Given the description of an element on the screen output the (x, y) to click on. 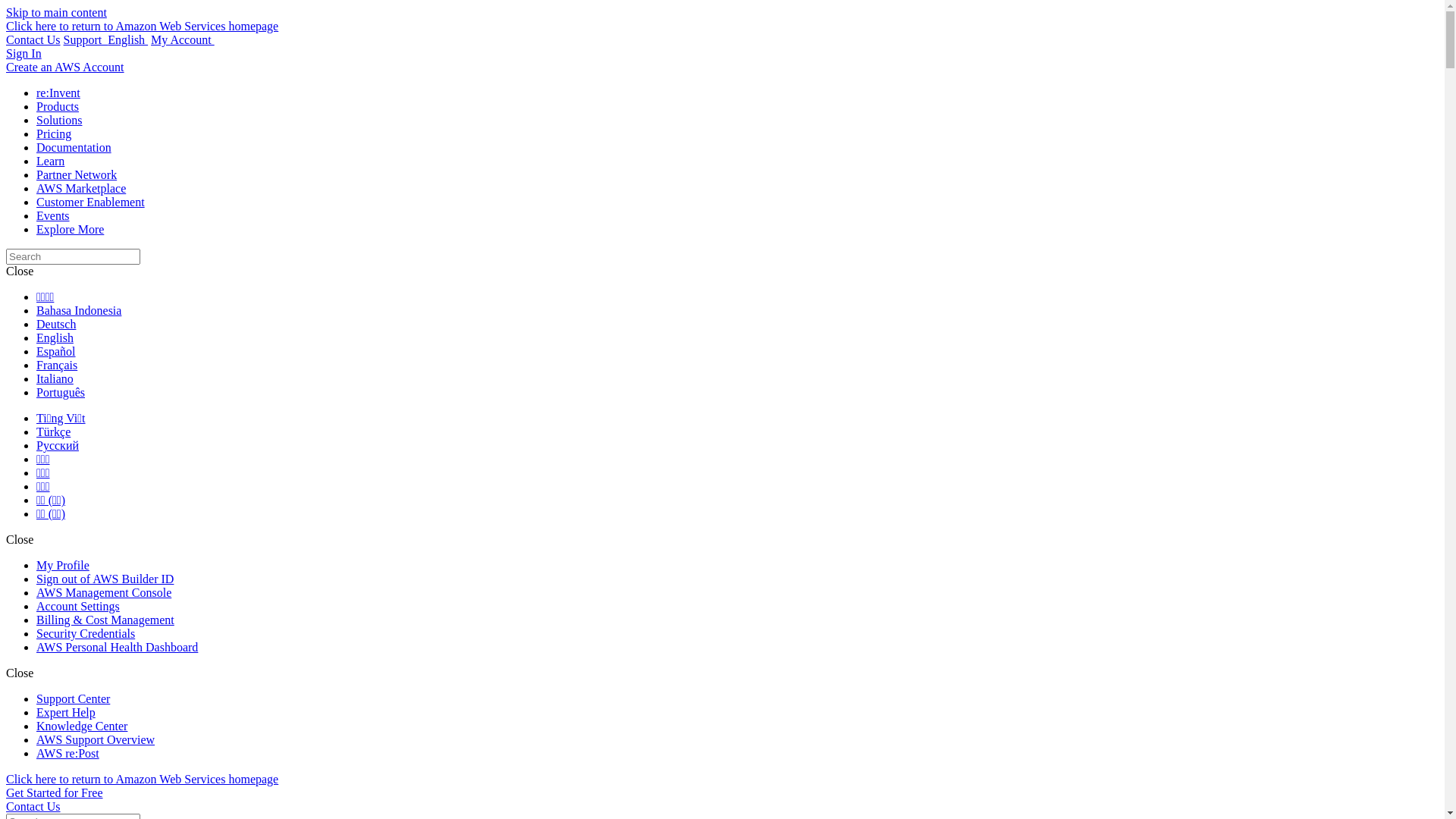
AWS Management Console Element type: text (103, 592)
Close Element type: text (19, 672)
Knowledge Center Element type: text (81, 725)
Solutions Element type: text (58, 119)
Expert Help Element type: text (65, 712)
Documentation Element type: text (73, 147)
Click here to return to Amazon Web Services homepage Element type: text (142, 25)
Account Settings Element type: text (77, 605)
Products Element type: text (57, 106)
English Element type: text (54, 337)
Partner Network Element type: text (76, 174)
Bahasa Indonesia Element type: text (78, 310)
Click here to return to Amazon Web Services homepage Element type: text (142, 778)
Sign In Element type: text (28, 49)
Customer Enablement Element type: text (90, 201)
AWS Support Overview Element type: text (95, 739)
Billing & Cost Management Element type: text (105, 619)
Contact Us Element type: text (33, 39)
Deutsch Element type: text (55, 323)
Skip to main content Element type: text (56, 12)
Italiano Element type: text (54, 378)
Learn Element type: text (50, 160)
re:Invent Element type: text (58, 92)
AWS Marketplace Element type: text (80, 188)
AWS re:Post Element type: text (67, 752)
Events Element type: text (52, 215)
Explore More Element type: text (69, 228)
Support Center Element type: text (72, 698)
My Profile Element type: text (62, 564)
Close Element type: text (19, 539)
Contact Us Element type: text (33, 806)
Security Credentials Element type: text (85, 633)
My Account  Element type: text (182, 39)
Get Started for Free Element type: text (54, 792)
Support  Element type: text (85, 39)
Create an AWS Account Element type: text (65, 66)
Sign out of AWS Builder ID Element type: text (104, 578)
Close Element type: text (19, 270)
Pricing Element type: text (53, 133)
AWS Personal Health Dashboard Element type: text (116, 646)
English  Element type: text (127, 39)
